Given the description of an element on the screen output the (x, y) to click on. 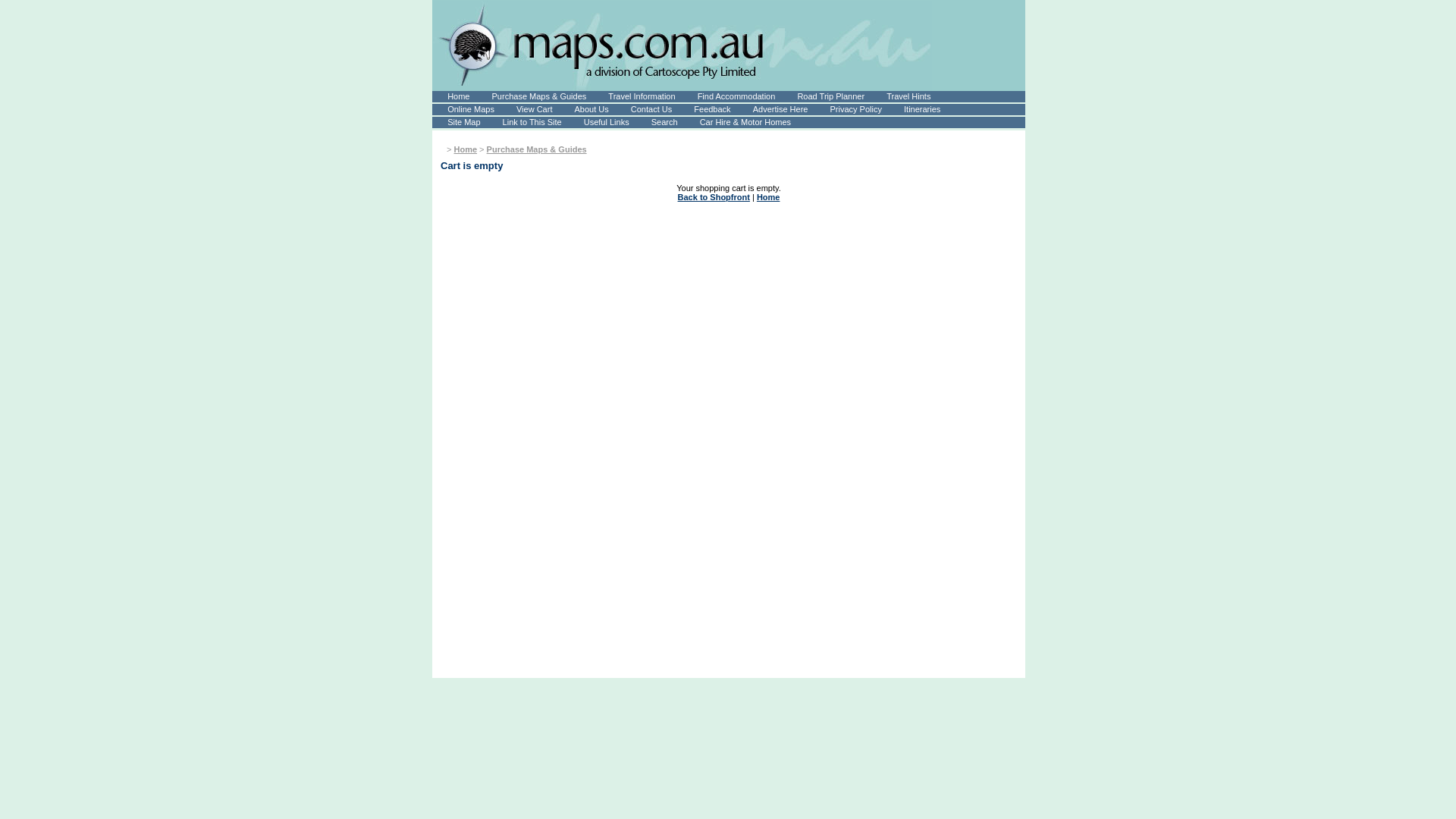
Purchase Maps & Guides Element type: text (536, 148)
Itineraries Element type: text (922, 108)
Find Accommodation Element type: text (736, 96)
Travel Information Element type: text (641, 96)
Home Element type: text (464, 148)
Contact Us Element type: text (651, 108)
Home Element type: text (458, 96)
Link to This Site Element type: text (531, 121)
Home Element type: text (768, 196)
Advertise Here Element type: text (780, 108)
Travel Hints Element type: text (908, 96)
About Us Element type: text (591, 108)
View Cart Element type: text (533, 108)
Privacy Policy Element type: text (855, 108)
Site Map Element type: text (463, 121)
Road Trip Planner Element type: text (830, 96)
Useful Links Element type: text (606, 121)
Back to Shopfront Element type: text (713, 196)
Search Element type: text (664, 121)
Online Maps Element type: text (470, 108)
Feedback Element type: text (712, 108)
Purchase Maps & Guides Element type: text (539, 96)
Car Hire & Motor Homes Element type: text (745, 121)
